Given the description of an element on the screen output the (x, y) to click on. 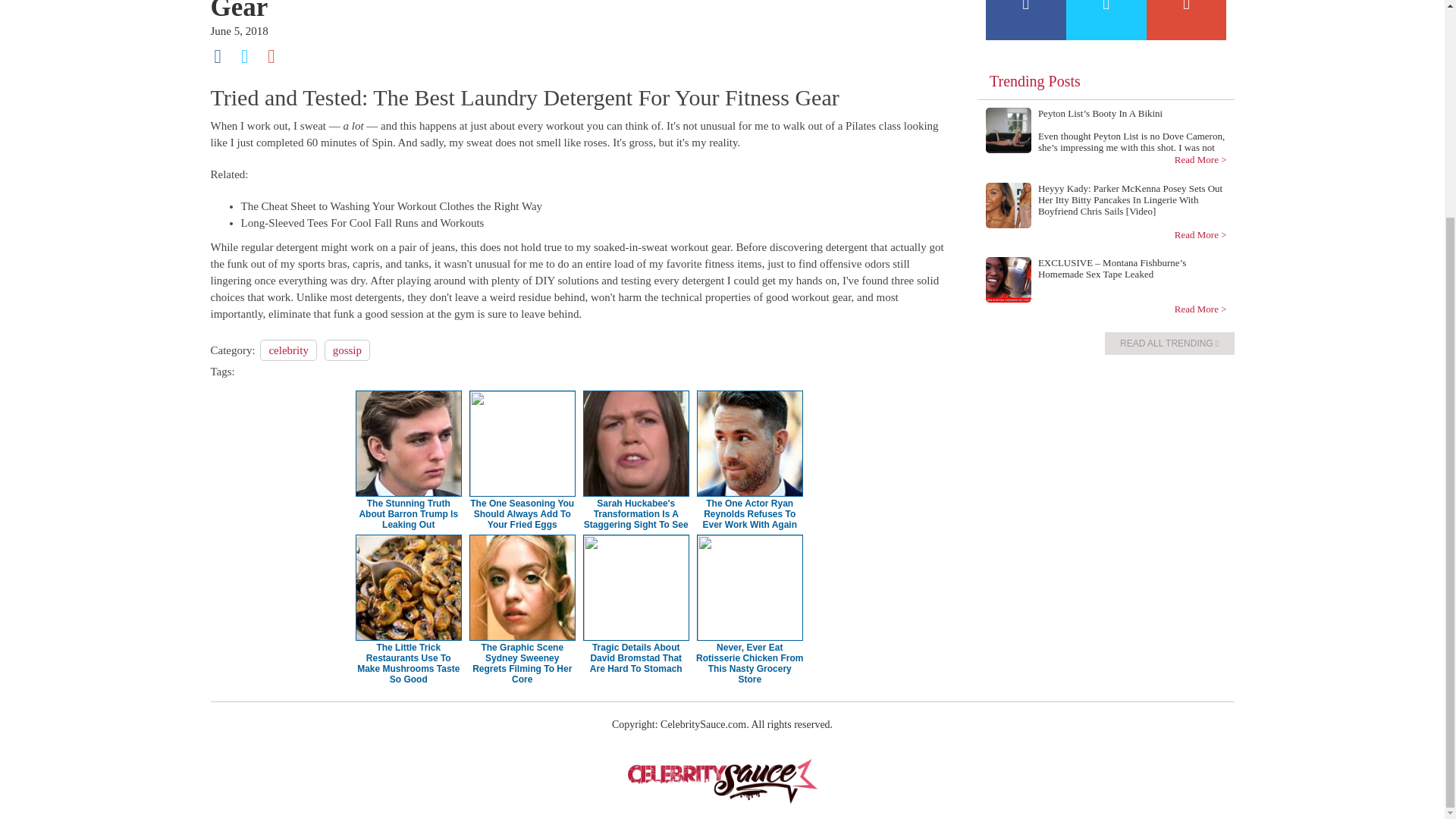
Sarah Huckabee's Transformation Is A Staggering Sight To See (635, 513)
The One Seasoning You Should Always Add To Your Fried Eggs (521, 513)
Tragic Details About David Bromstad That Are Hard To Stomach (635, 658)
The Stunning Truth About Barron Trump Is Leaking Out (408, 513)
Long-Sleeved Tees For Cool Fall Runs and Workouts (362, 223)
The Graphic Scene Sydney Sweeney Regrets Filming To Her Core (521, 663)
gossip (346, 350)
